Given the description of an element on the screen output the (x, y) to click on. 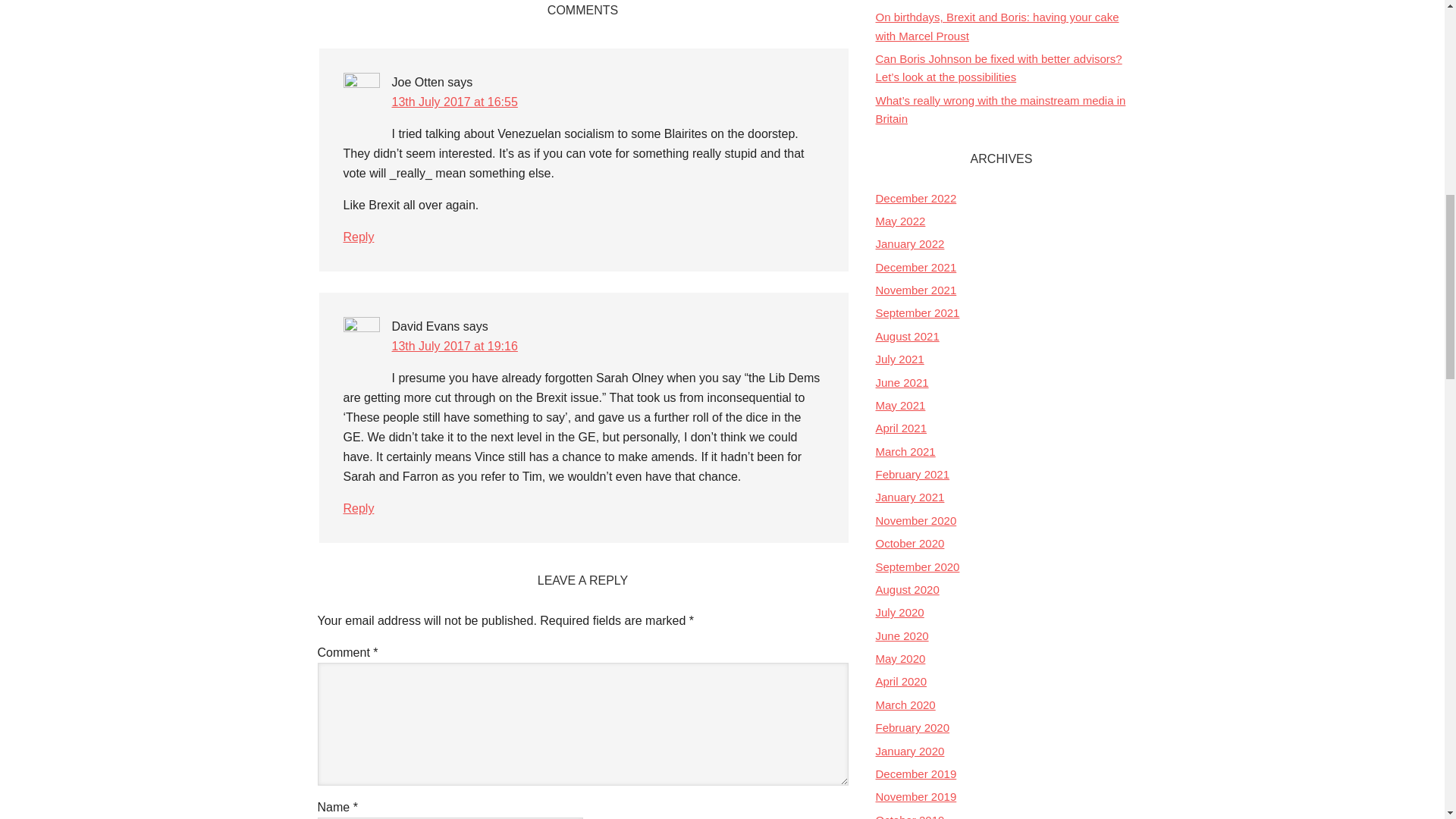
January 2021 (909, 496)
13th July 2017 at 19:16 (453, 345)
December 2022 (915, 197)
August 2020 (907, 589)
May 2022 (899, 220)
July 2021 (899, 358)
September 2021 (917, 312)
May 2021 (899, 404)
December 2021 (915, 267)
